Given the description of an element on the screen output the (x, y) to click on. 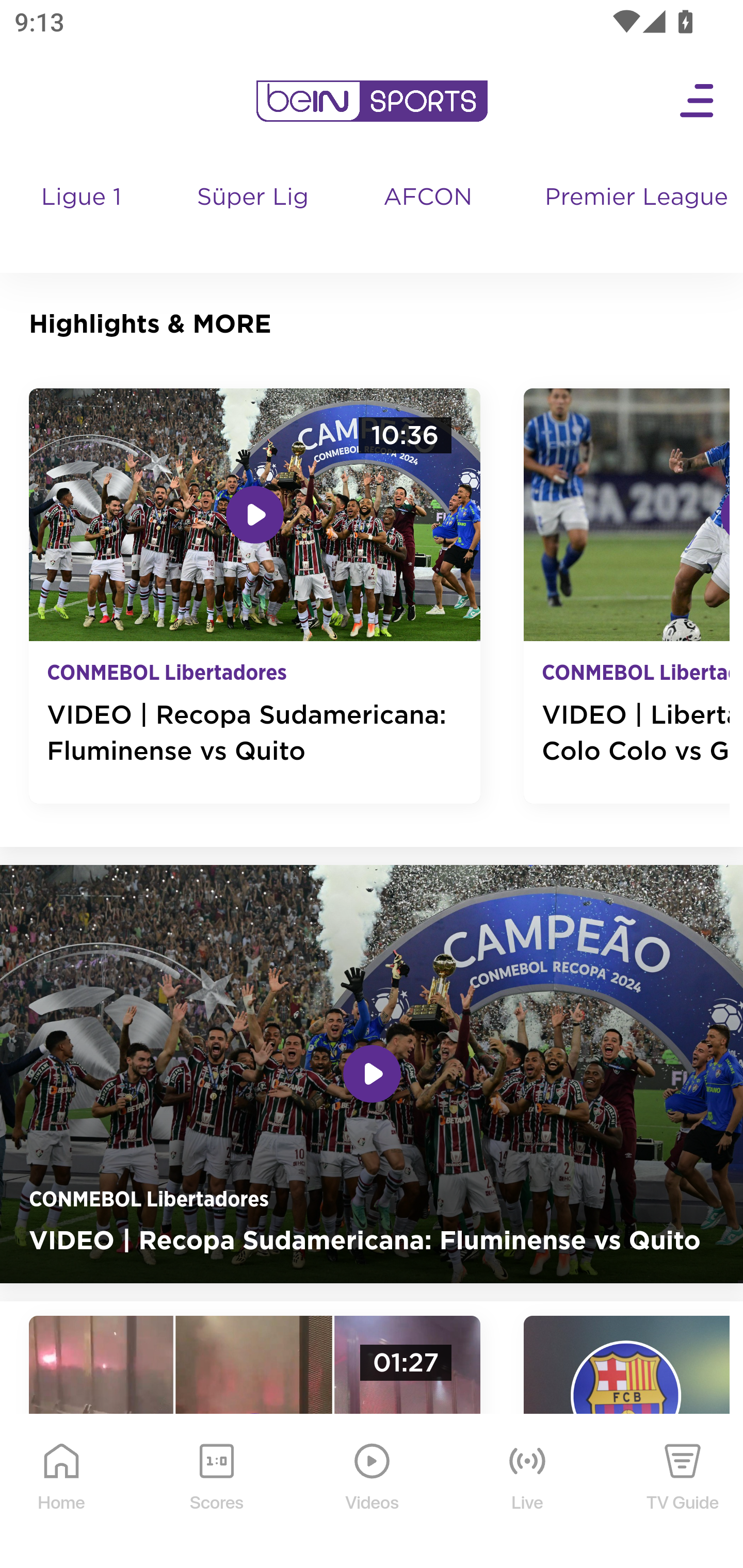
en-us?platform=mobile_android bein logo (371, 101)
Open Menu Icon (697, 101)
Ligue 1 (83, 216)
Süper Lig (253, 216)
AFCON (427, 198)
Premier League (636, 198)
Home Home Icon Home (61, 1491)
Scores Scores Icon Scores (216, 1491)
Videos Videos Icon Videos (372, 1491)
TV Guide TV Guide Icon TV Guide (682, 1491)
